Given the description of an element on the screen output the (x, y) to click on. 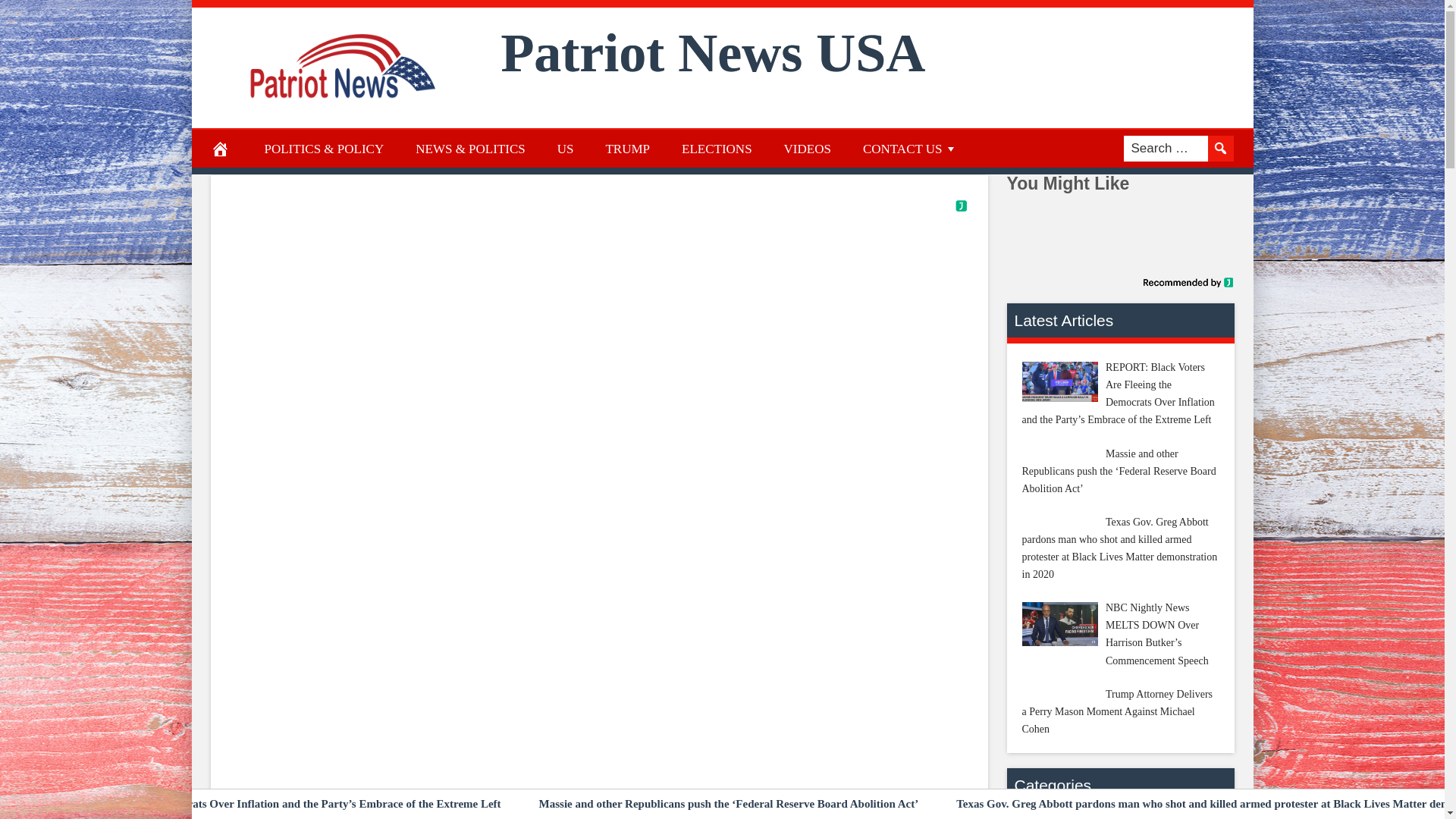
Patriot News USA (712, 52)
